Given the description of an element on the screen output the (x, y) to click on. 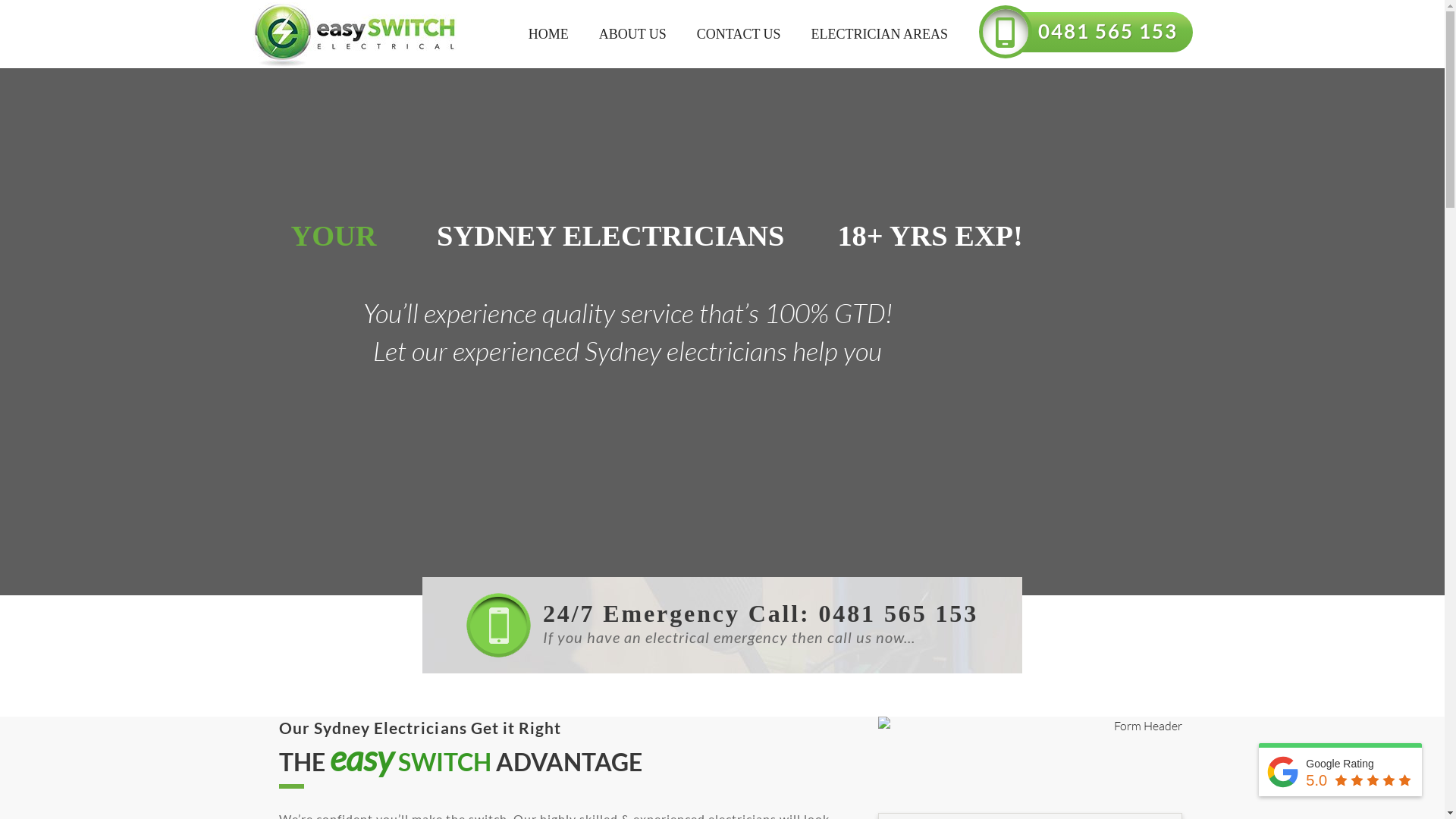
If you have an electrical emergency then call us now... Element type: text (722, 645)
0481 565 153 Element type: text (1112, 24)
HOME Element type: text (548, 34)
CONTACT US Element type: text (738, 34)
ELECTRICIAN AREAS Element type: text (879, 34)
ABOUT US Element type: text (632, 34)
24/7 Emergency Call: 0481 565 153 Element type: text (760, 616)
